Given the description of an element on the screen output the (x, y) to click on. 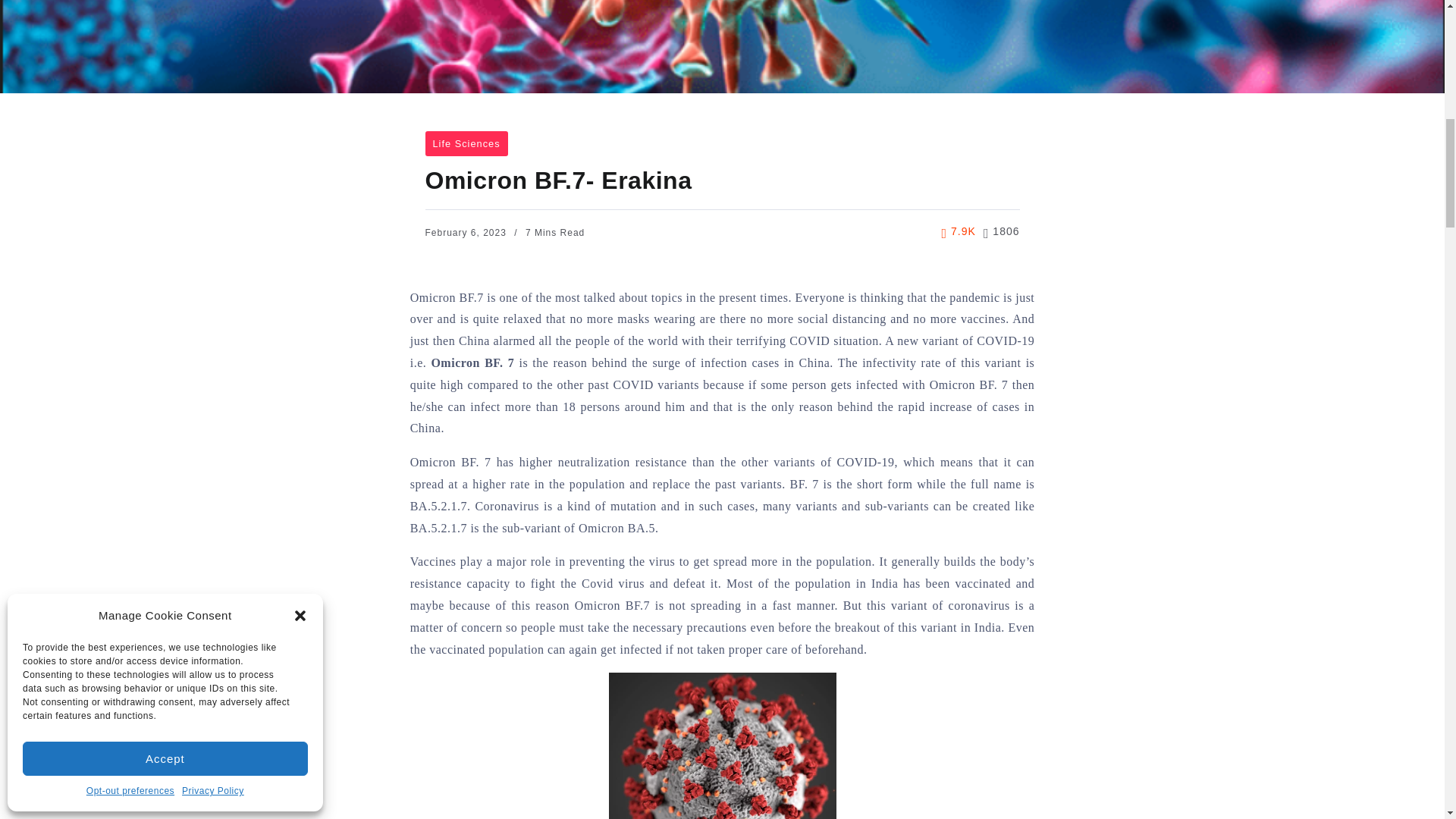
Life Sciences (465, 143)
Life Sciences (465, 143)
Views (958, 230)
comments (1002, 230)
Omicron BF.7- Erakina 1 (721, 745)
